Given the description of an element on the screen output the (x, y) to click on. 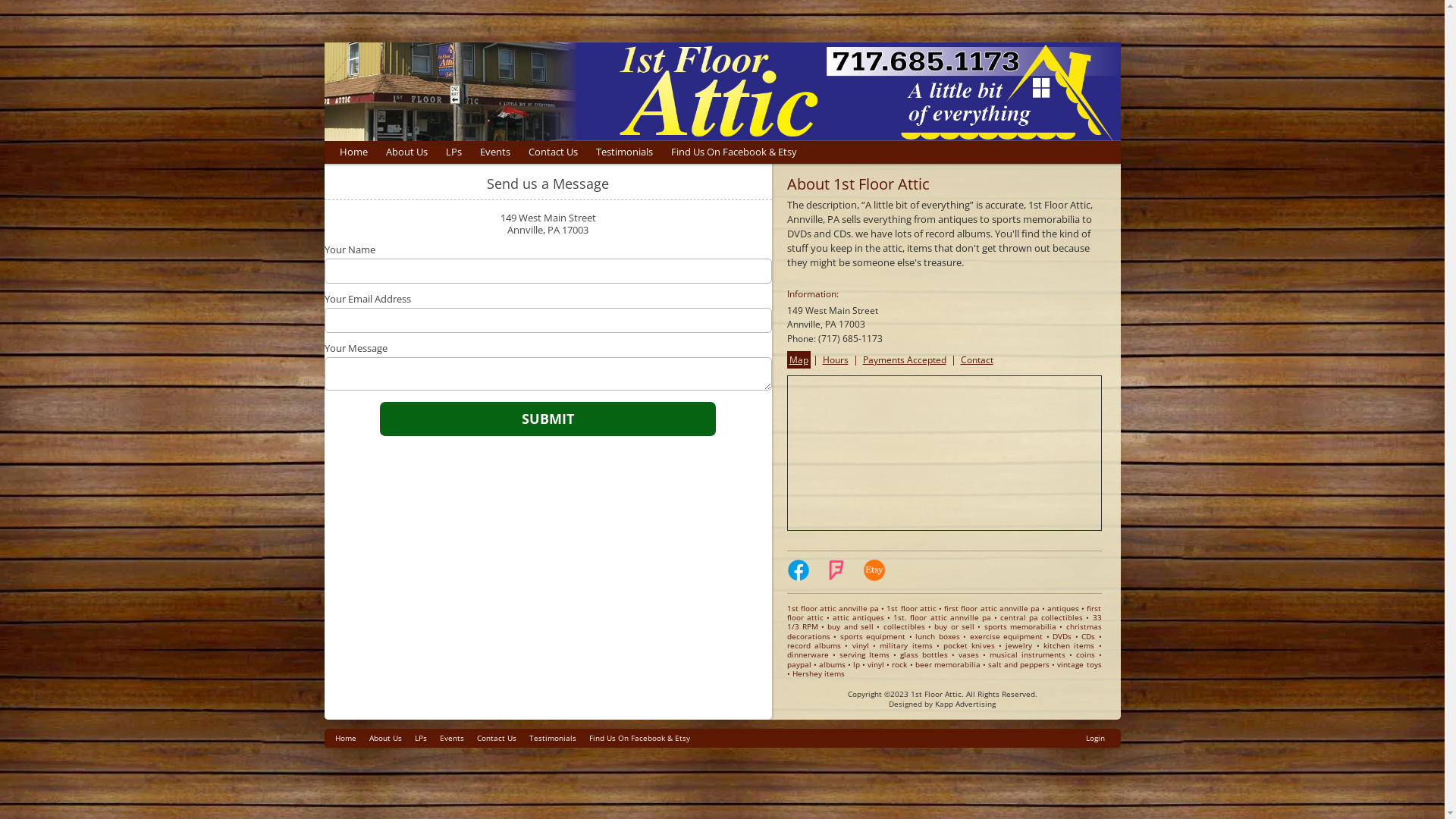
Events Element type: text (494, 152)
(717) 685-1173 Element type: text (849, 338)
Hours Element type: text (835, 359)
Testimonials Element type: text (624, 152)
Testimonials Element type: text (552, 737)
About Us Element type: text (406, 152)
Home Element type: text (345, 737)
Find Us On Facebook & Etsy Element type: text (638, 737)
Events Element type: text (451, 737)
Home Element type: text (353, 152)
Designed by Kapp Advertising Element type: text (941, 702)
Map Element type: text (798, 359)
Login Element type: text (1094, 737)
About Us Element type: text (384, 737)
Find Us On Facebook & Etsy Element type: text (733, 152)
Contact Us Element type: text (495, 737)
Contact Us Element type: text (552, 152)
LPs Element type: text (420, 737)
Payments Accepted Element type: text (903, 359)
LPs Element type: text (453, 152)
Contact Element type: text (976, 359)
Submit Element type: text (547, 418)
